Given the description of an element on the screen output the (x, y) to click on. 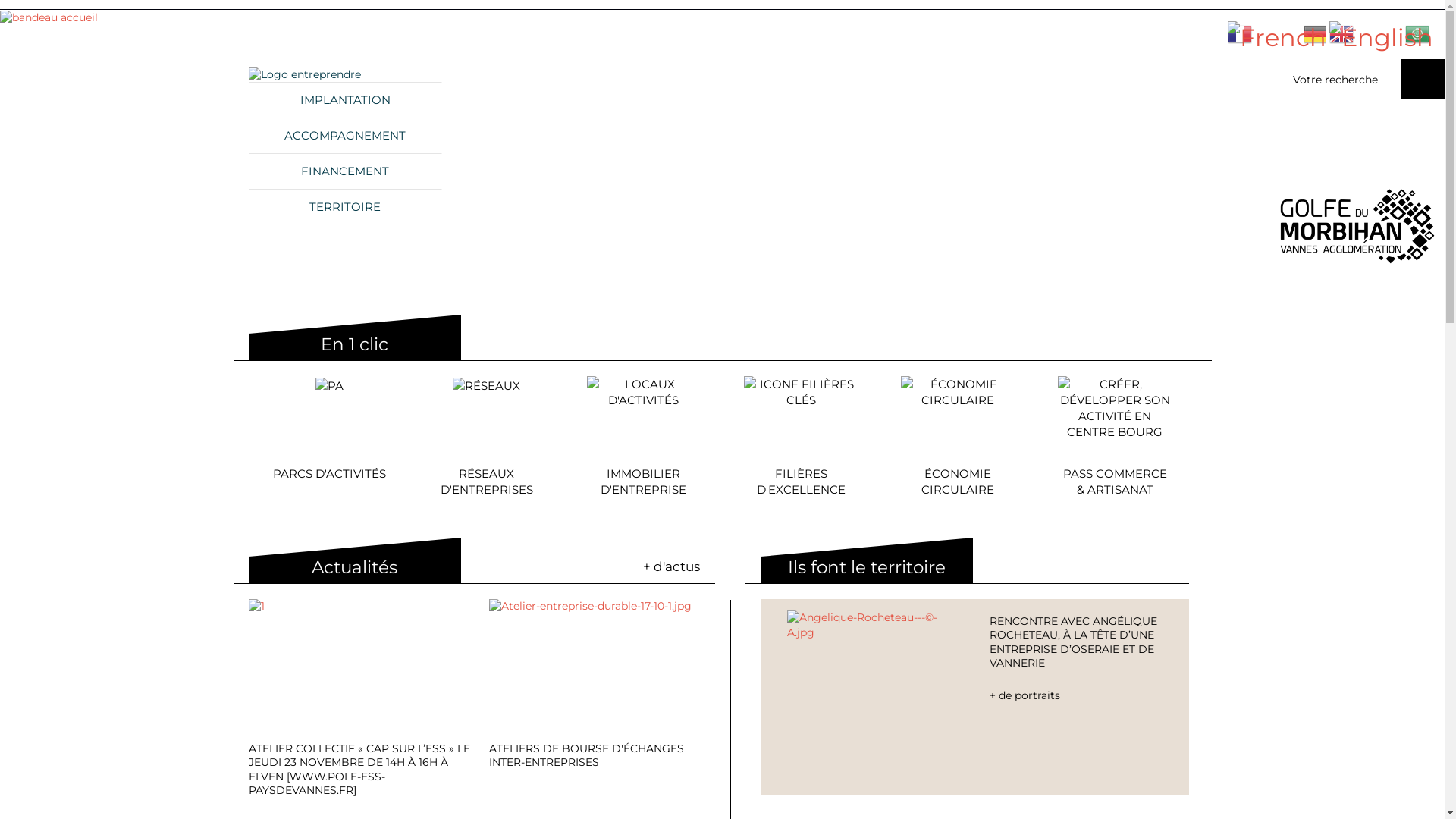
TERRITOIRE Element type: text (345, 206)
IMMOBILIER D'ENTREPRISE Element type: text (643, 436)
FINANCEMENT Element type: text (345, 170)
French Element type: hover (1276, 37)
PASS COMMERCE & ARTISANAT Element type: text (1114, 436)
+ d'actus Element type: text (671, 567)
English Element type: hover (1381, 37)
+ de portraits Element type: text (1075, 695)
ACCOMPAGNEMENT Element type: text (345, 135)
IMPLANTATION Element type: text (345, 99)
